Given the description of an element on the screen output the (x, y) to click on. 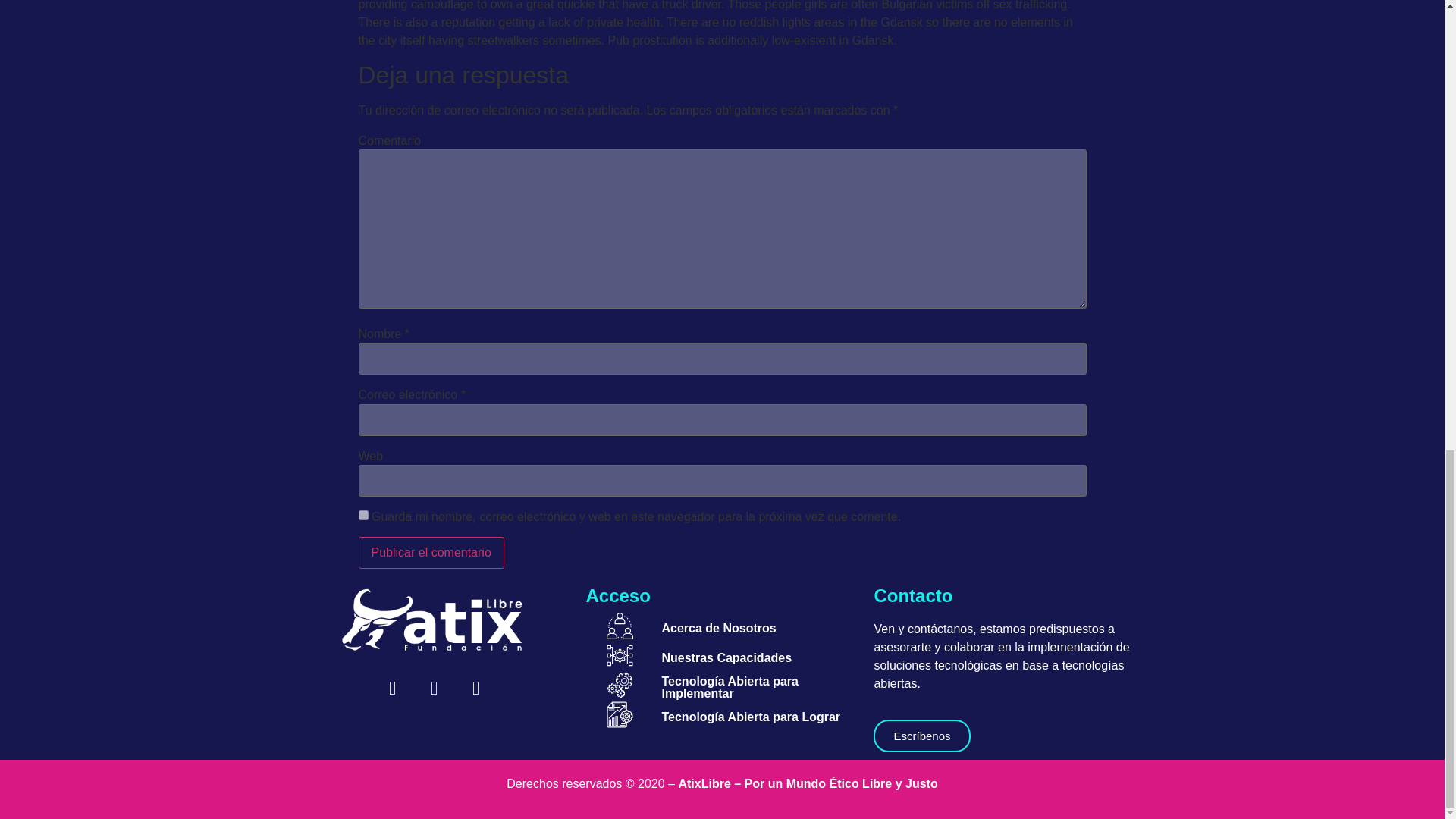
Acerca de Nosotros (718, 627)
Publicar el comentario (430, 552)
Nuestras Capacidades (726, 657)
yes (363, 515)
Publicar el comentario (430, 552)
